Given the description of an element on the screen output the (x, y) to click on. 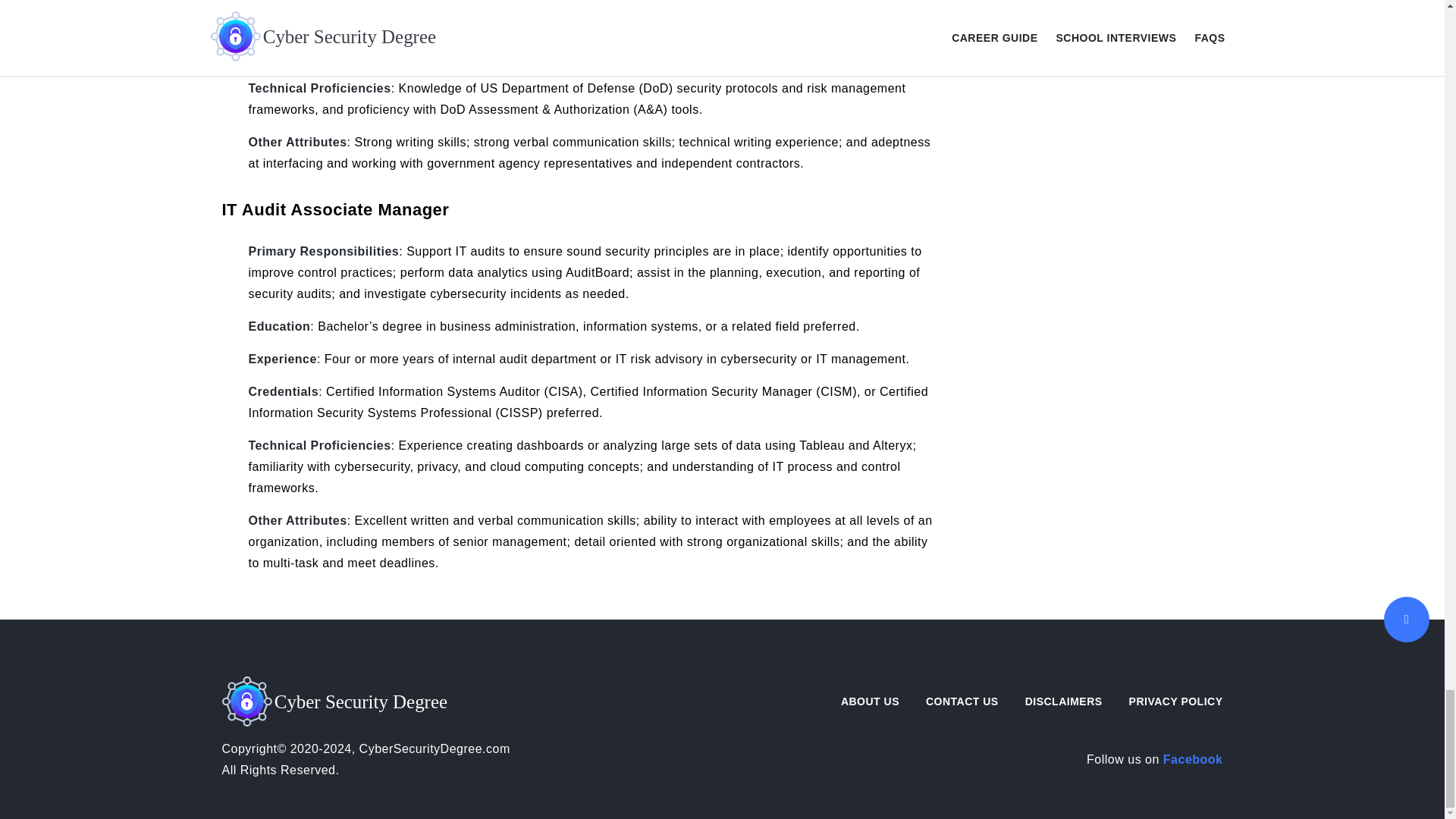
Go to Top (1406, 619)
Facebook (1193, 758)
DISCLAIMERS (1063, 701)
Facefook (1193, 758)
CONTACT US (962, 701)
ABOUT US (870, 701)
PRIVACY POLICY (1176, 701)
